Given the description of an element on the screen output the (x, y) to click on. 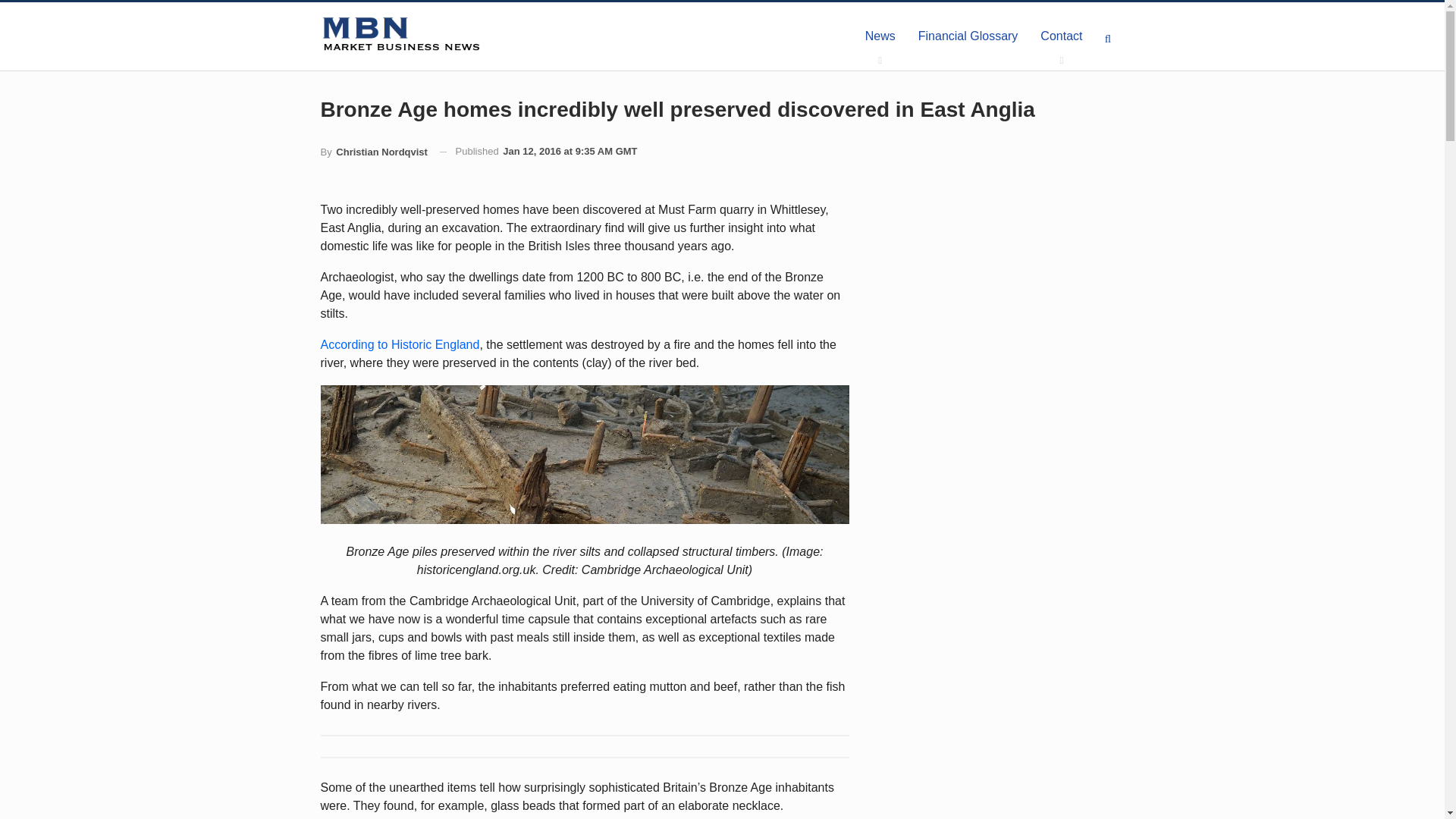
According to Historic England (399, 344)
Browse Author Articles (373, 152)
Contact (1061, 36)
By Christian Nordqvist (373, 152)
Financial Glossary (968, 36)
